Given the description of an element on the screen output the (x, y) to click on. 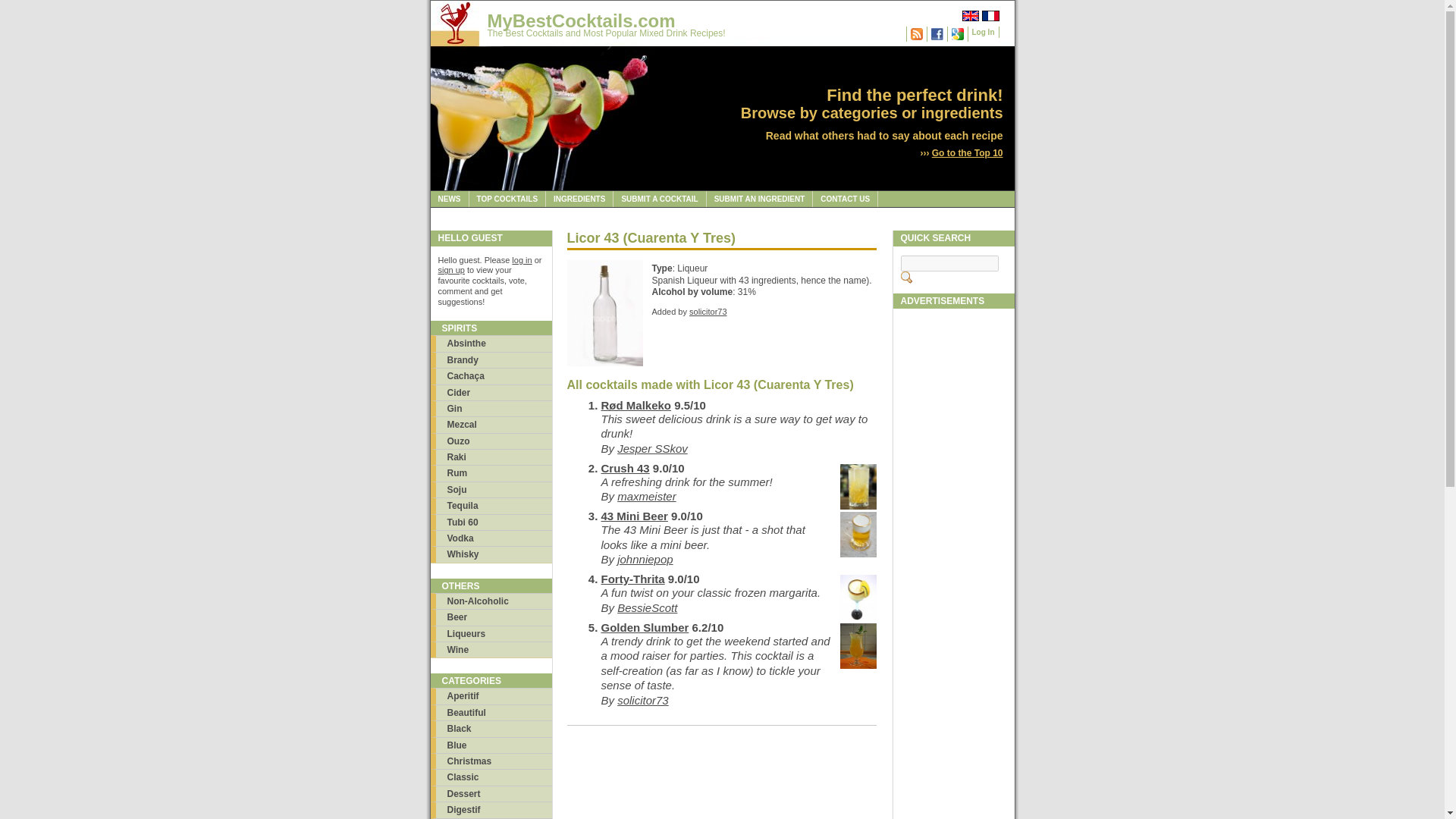
Tubi 60 (490, 521)
Advertisement (953, 795)
MyBestCocktails.com (580, 20)
NEWS (449, 198)
Tequila (490, 505)
Whisky (490, 553)
Non-Alcoholic (490, 600)
TOP COCKTAILS (507, 198)
SUBMIT AN INGREDIENT (759, 198)
Mezcal (490, 424)
Vodka (490, 537)
Blue (490, 744)
Brandy (490, 359)
Black (490, 728)
SUBMIT A COCKTAIL (659, 198)
